Given the description of an element on the screen output the (x, y) to click on. 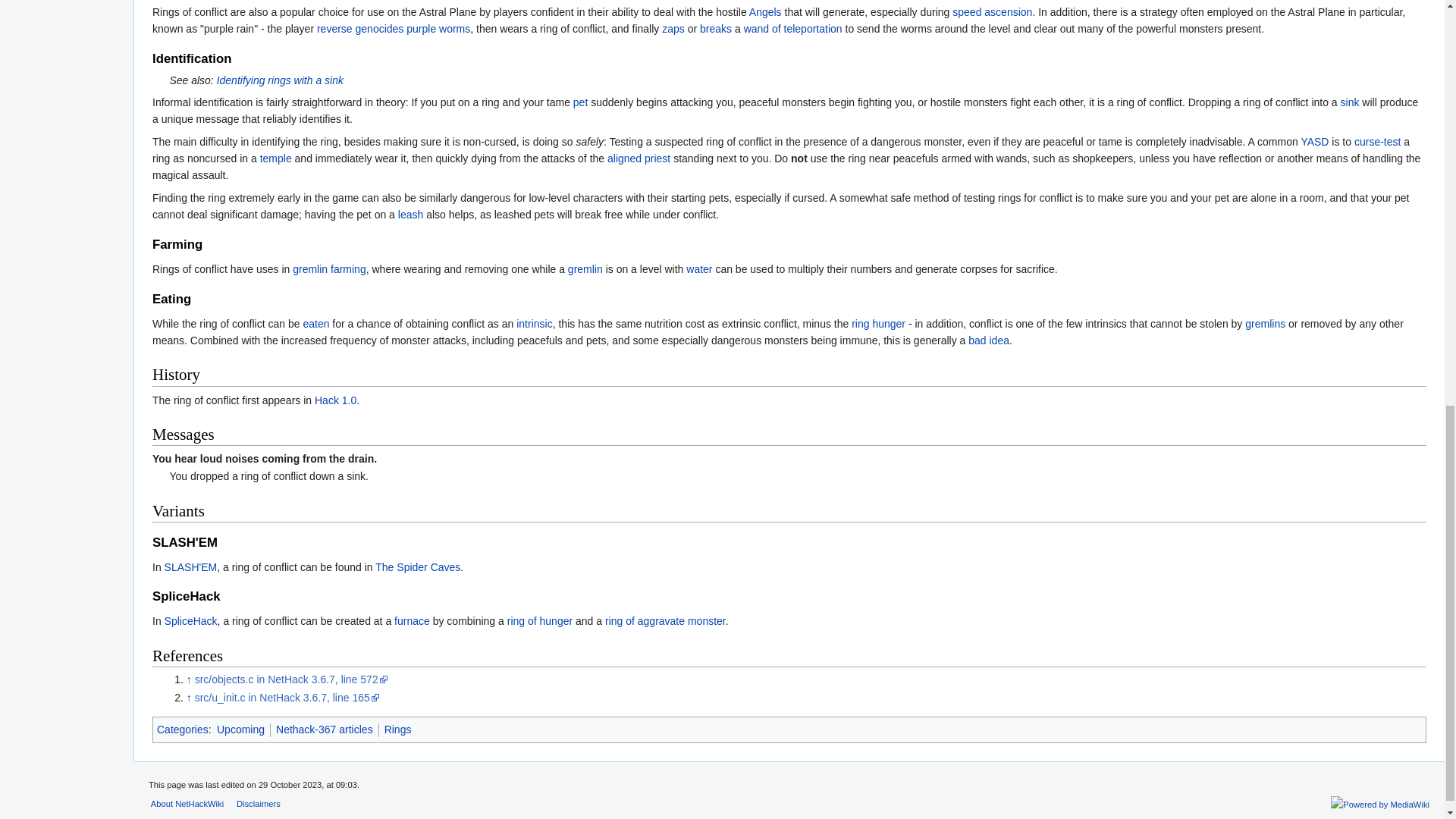
Angel (765, 11)
speed ascension (992, 11)
purple worms (438, 28)
zaps (673, 28)
reverse genocides (360, 28)
Angels (765, 11)
Speed ascension (992, 11)
